Given the description of an element on the screen output the (x, y) to click on. 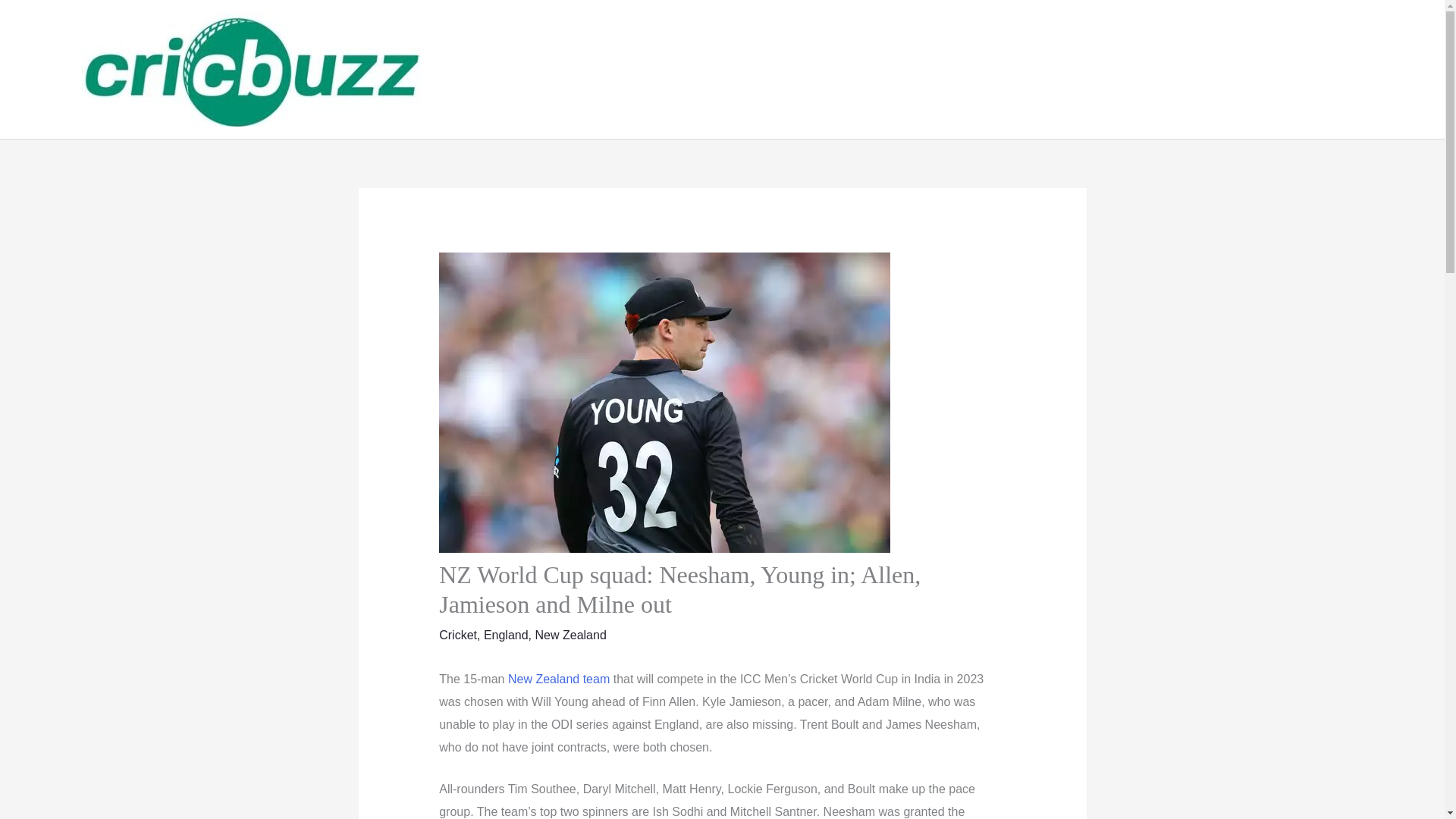
England (505, 634)
Cricket (458, 634)
New Zealand team (559, 678)
New Zealand (571, 634)
